Given the description of an element on the screen output the (x, y) to click on. 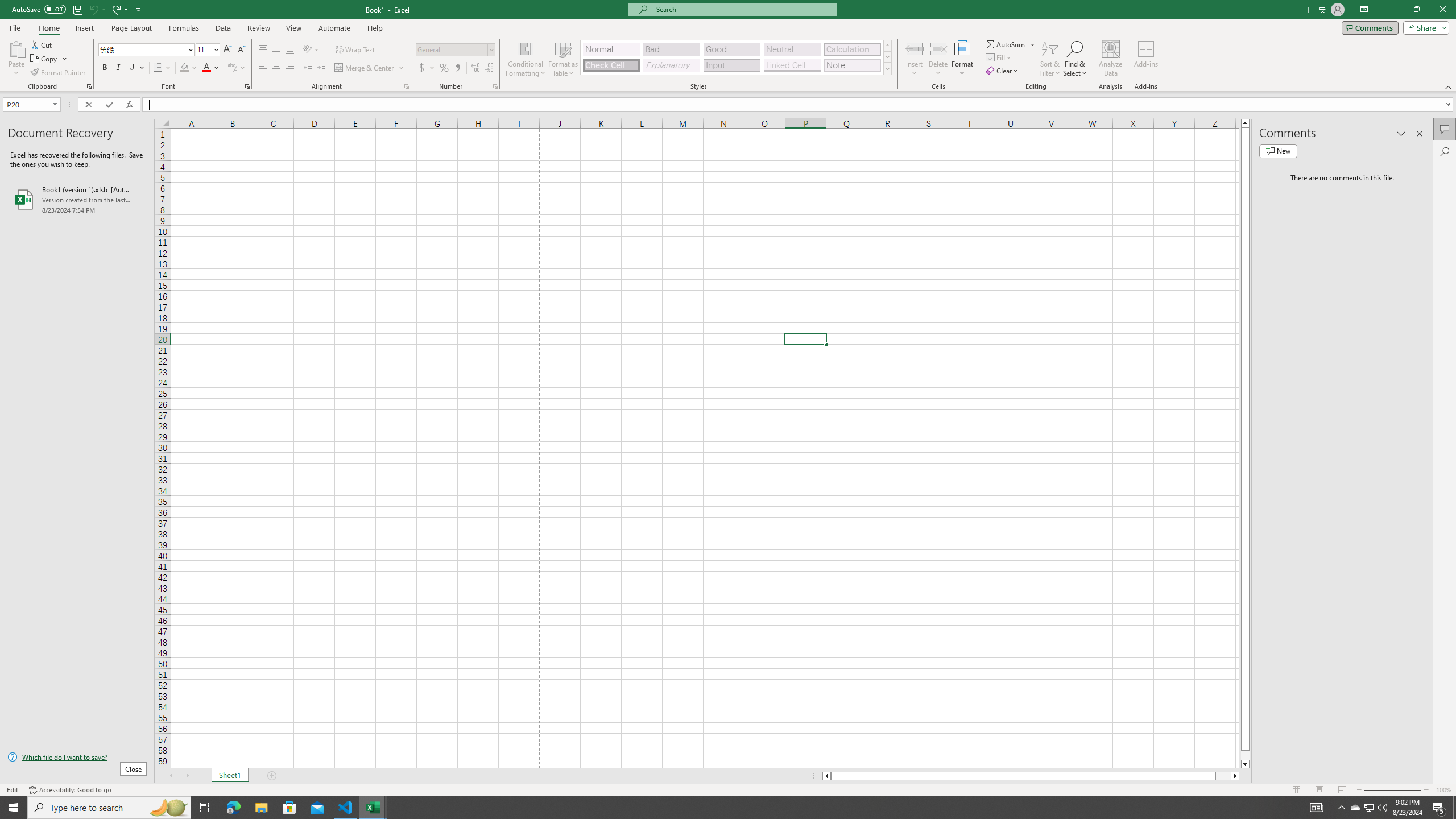
Fill (999, 56)
Show Phonetic Field (236, 67)
Scroll Left (171, 775)
Automate (334, 28)
Format Cell Number (494, 85)
Accessibility Checker Accessibility: Good to go (70, 790)
Number Format (451, 49)
Line up (1245, 122)
